Given the description of an element on the screen output the (x, y) to click on. 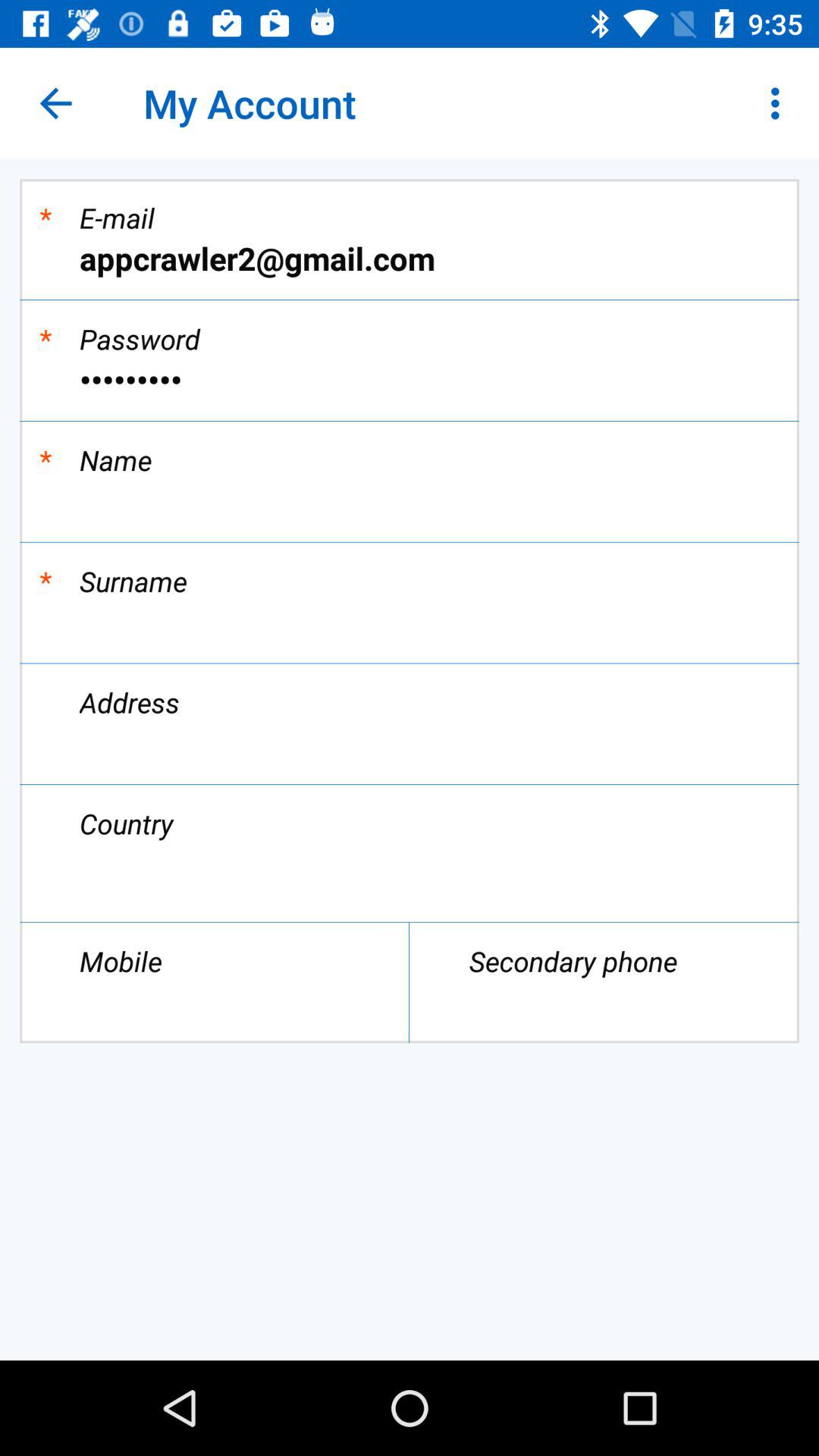
turn on the icon above * (55, 103)
